Given the description of an element on the screen output the (x, y) to click on. 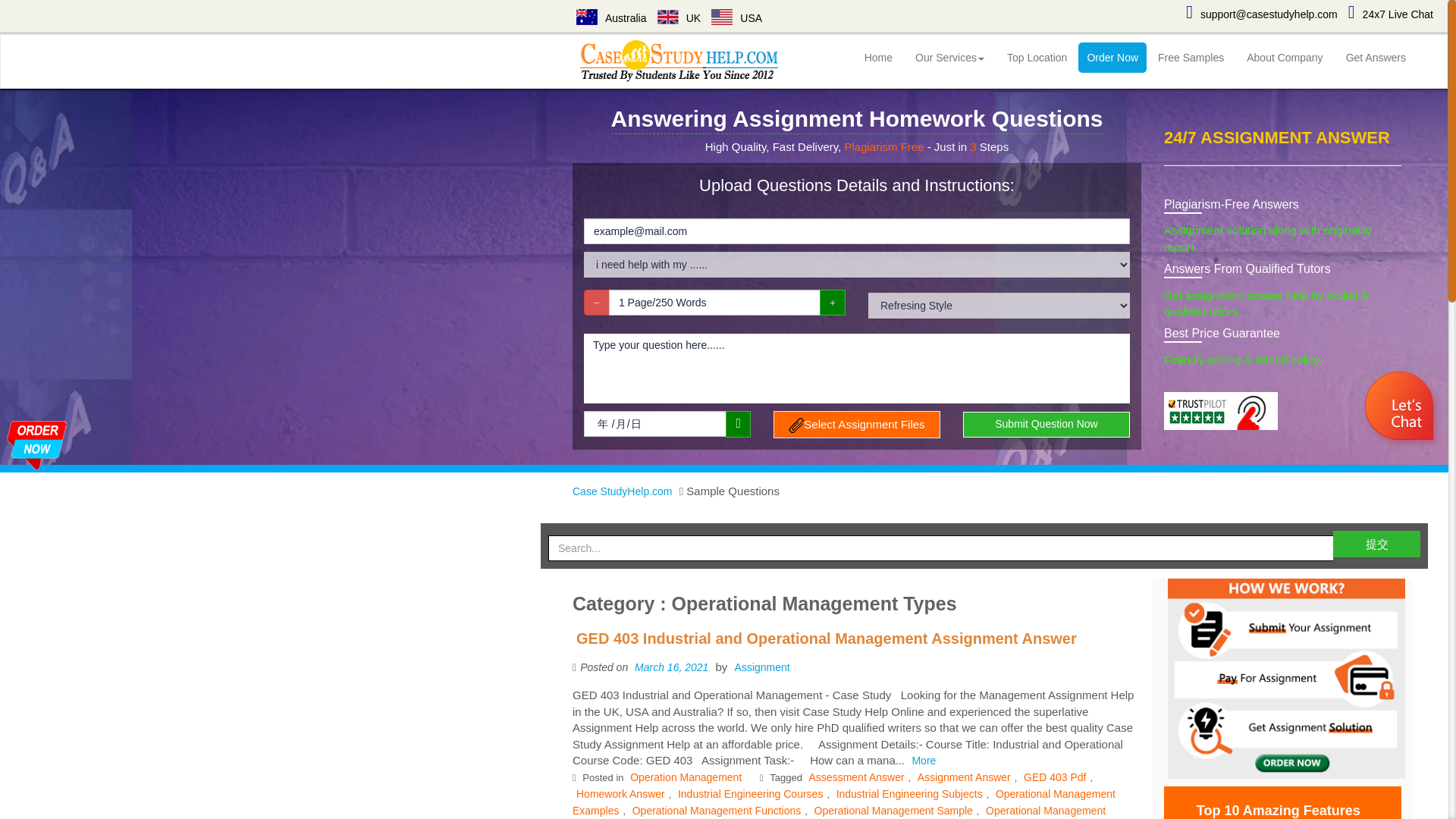
Chat Invitation (723, 409)
Our Services (949, 57)
Submit Your Question (36, 441)
Submit Question Now (1045, 424)
Case Study Help (680, 61)
24x7 Live Chat (1390, 14)
Assignment help for USA (721, 17)
Home (878, 57)
Assignment help for UK (668, 17)
UK (679, 18)
USA (736, 18)
Case Study Help reviews (1220, 410)
Assignment help for Australia (586, 17)
Australia (611, 18)
